Given the description of an element on the screen output the (x, y) to click on. 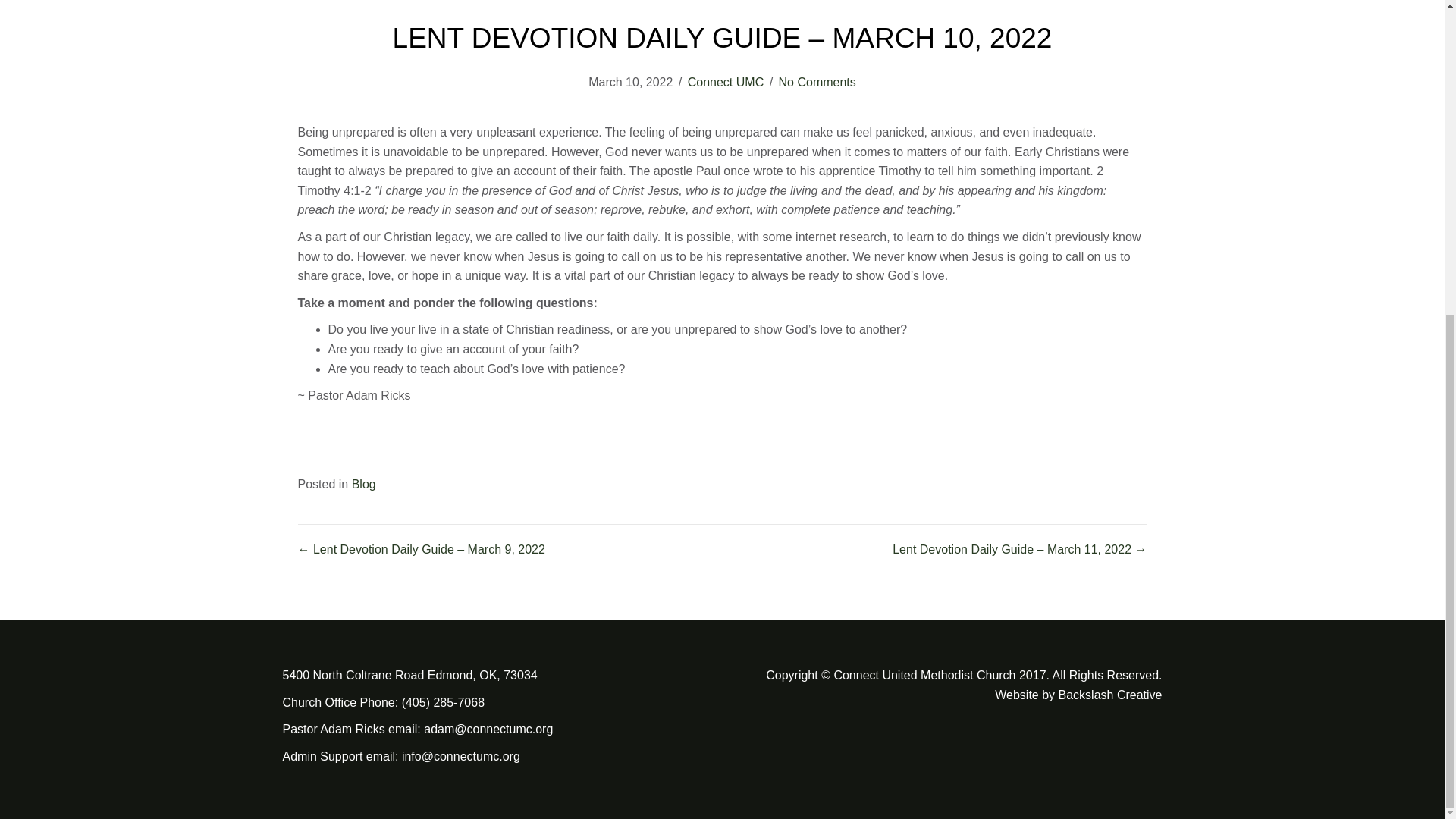
Backslash Creative (1109, 694)
5400 North Coltrane Road Edmond, OK, 73034 (409, 675)
Connect UMC (724, 82)
No Comments (817, 82)
Blog (363, 483)
